Given the description of an element on the screen output the (x, y) to click on. 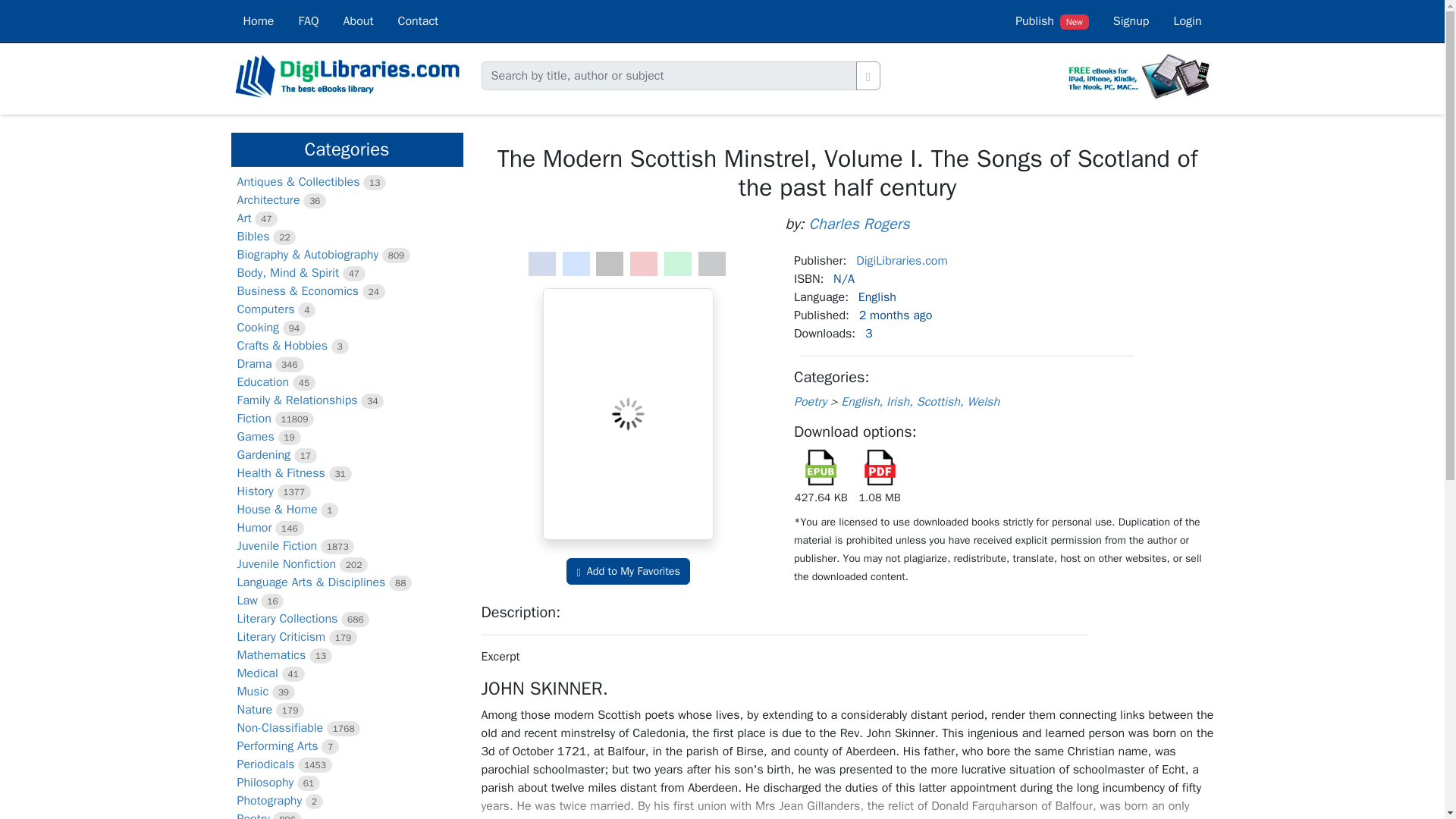
Medical (256, 672)
Humor (252, 527)
Games (254, 436)
Fiction (252, 418)
Signup (1130, 21)
Literary Collections (286, 618)
Gardening (262, 454)
Computers (264, 309)
Juvenile Fiction (276, 545)
Login (1186, 21)
